Given the description of an element on the screen output the (x, y) to click on. 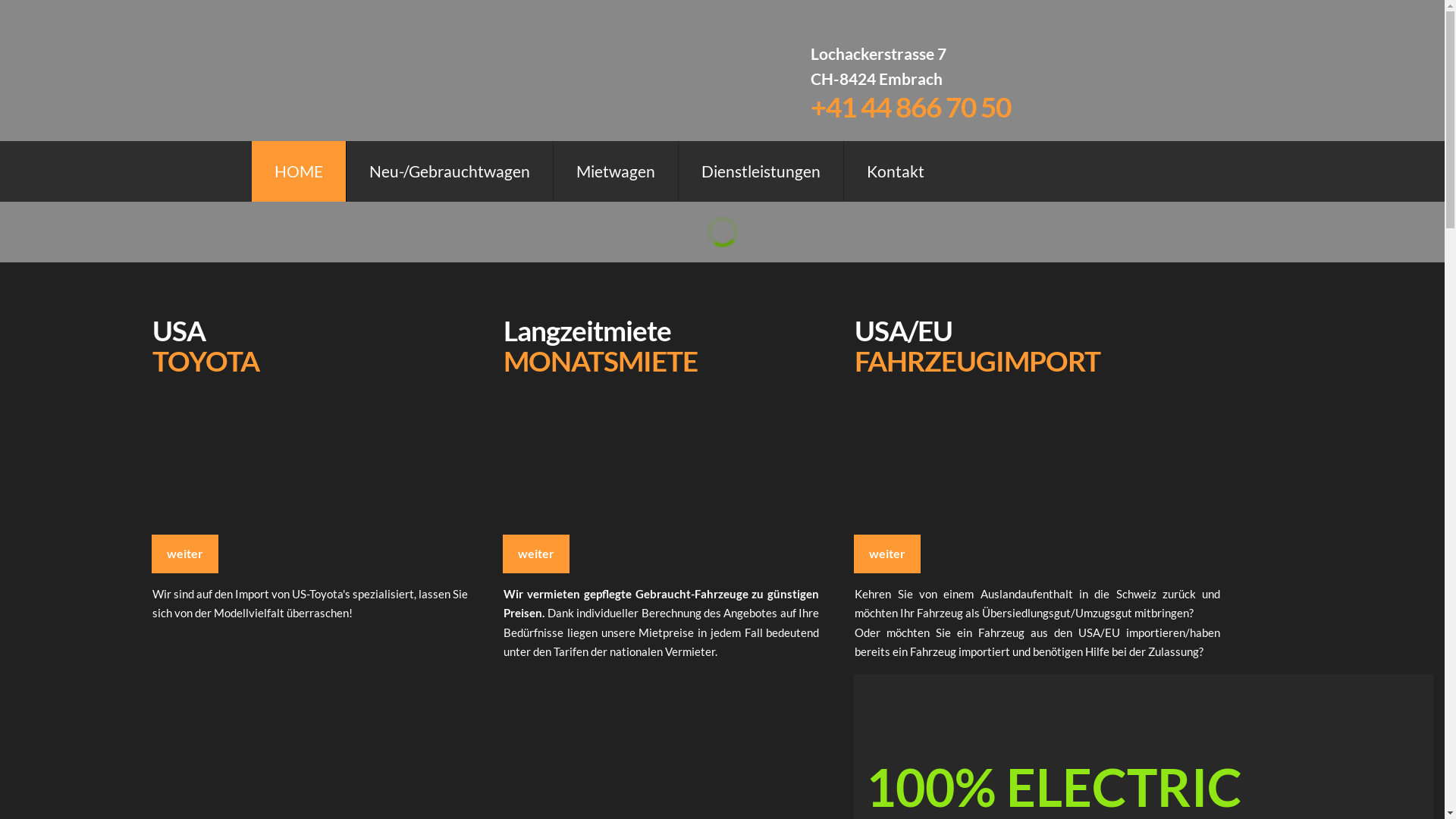
Dienstleistungen Element type: text (761, 171)
Mietwagen Element type: text (615, 171)
Neu-/Gebrauchtwagen Element type: text (449, 171)
Langzeitmiete, Monatsmiete Element type: hover (616, 470)
USA und EU Fahrzeugimport Element type: hover (967, 470)
HOME Element type: text (298, 171)
weiter Element type: text (184, 553)
weiter Element type: text (535, 553)
Kontakt Element type: text (895, 171)
weiter Element type: text (886, 553)
